Given the description of an element on the screen output the (x, y) to click on. 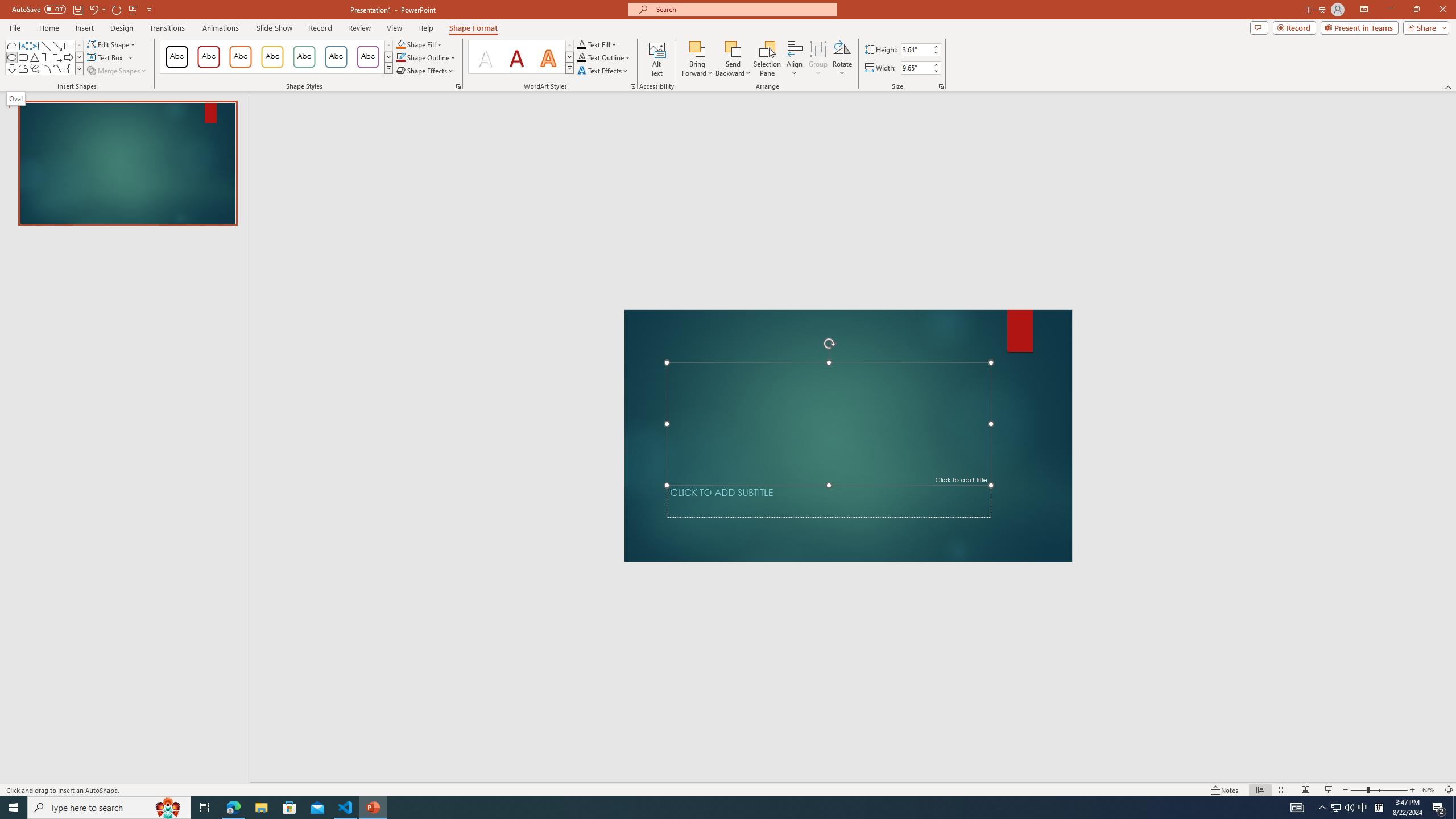
Text Box (110, 56)
Curve (57, 68)
Oval (15, 98)
Selection Pane... (767, 58)
Less (935, 70)
Send Backward (733, 58)
Oval (11, 57)
Text Outline RGB(0, 0, 0) (581, 56)
Quick Styles (568, 67)
Fill: Dark Red, Accent color 1; Shadow (516, 56)
